Given the description of an element on the screen output the (x, y) to click on. 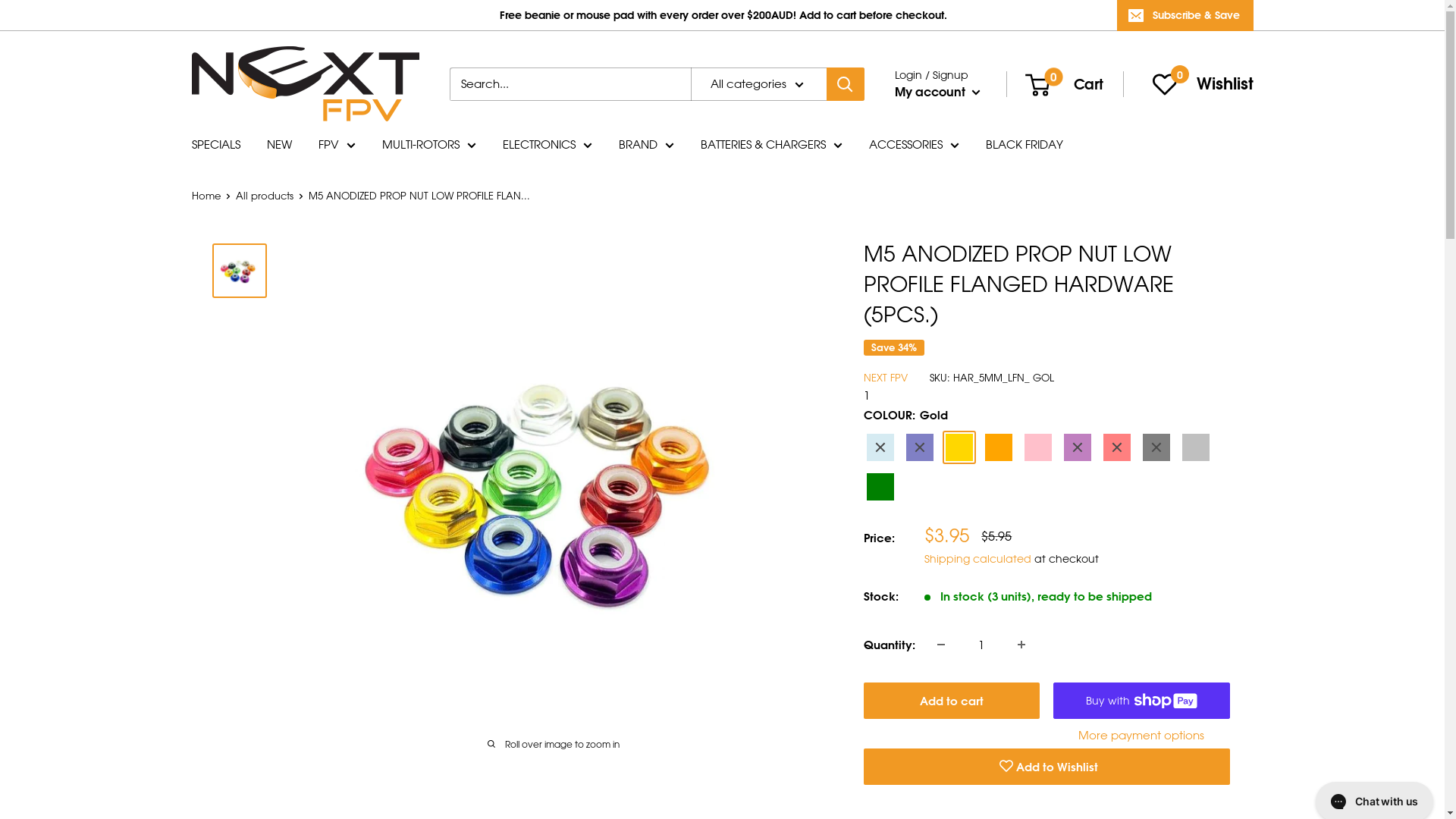
SPECIALS Element type: text (215, 144)
ELECTRONICS Element type: text (546, 144)
0
Cart Element type: text (1058, 81)
Light Blue Element type: hover (879, 447)
ACCESSORIES Element type: text (914, 144)
Dark Blue Element type: hover (918, 447)
Pink Element type: hover (1037, 447)
Gun Metal Element type: hover (918, 486)
NEXT FPV Element type: text (884, 376)
Silver Element type: hover (1194, 447)
Green Element type: hover (879, 486)
BLACK FRIDAY Element type: text (1024, 144)
0
Wishlist Element type: text (1200, 83)
Purple Element type: hover (1076, 447)
Gold Element type: hover (958, 447)
Subscribe & Save Element type: text (1184, 15)
Black Element type: hover (1155, 447)
Red Element type: hover (1115, 447)
FPV Element type: text (336, 144)
My account Element type: text (937, 91)
Home Element type: text (205, 194)
Orange Element type: hover (997, 447)
Add to Wishlist Element type: text (1045, 766)
NEW Element type: text (278, 144)
BATTERIES & CHARGERS Element type: text (771, 144)
Add to cart Element type: text (950, 700)
BRAND Element type: text (646, 144)
Shipping calculated Element type: text (976, 558)
More payment options Element type: text (1141, 735)
All products Element type: text (263, 194)
Decrease quantity by 1 Element type: hover (941, 644)
MULTI-ROTORS Element type: text (429, 144)
Increase quantity by 1 Element type: hover (1021, 644)
